Given the description of an element on the screen output the (x, y) to click on. 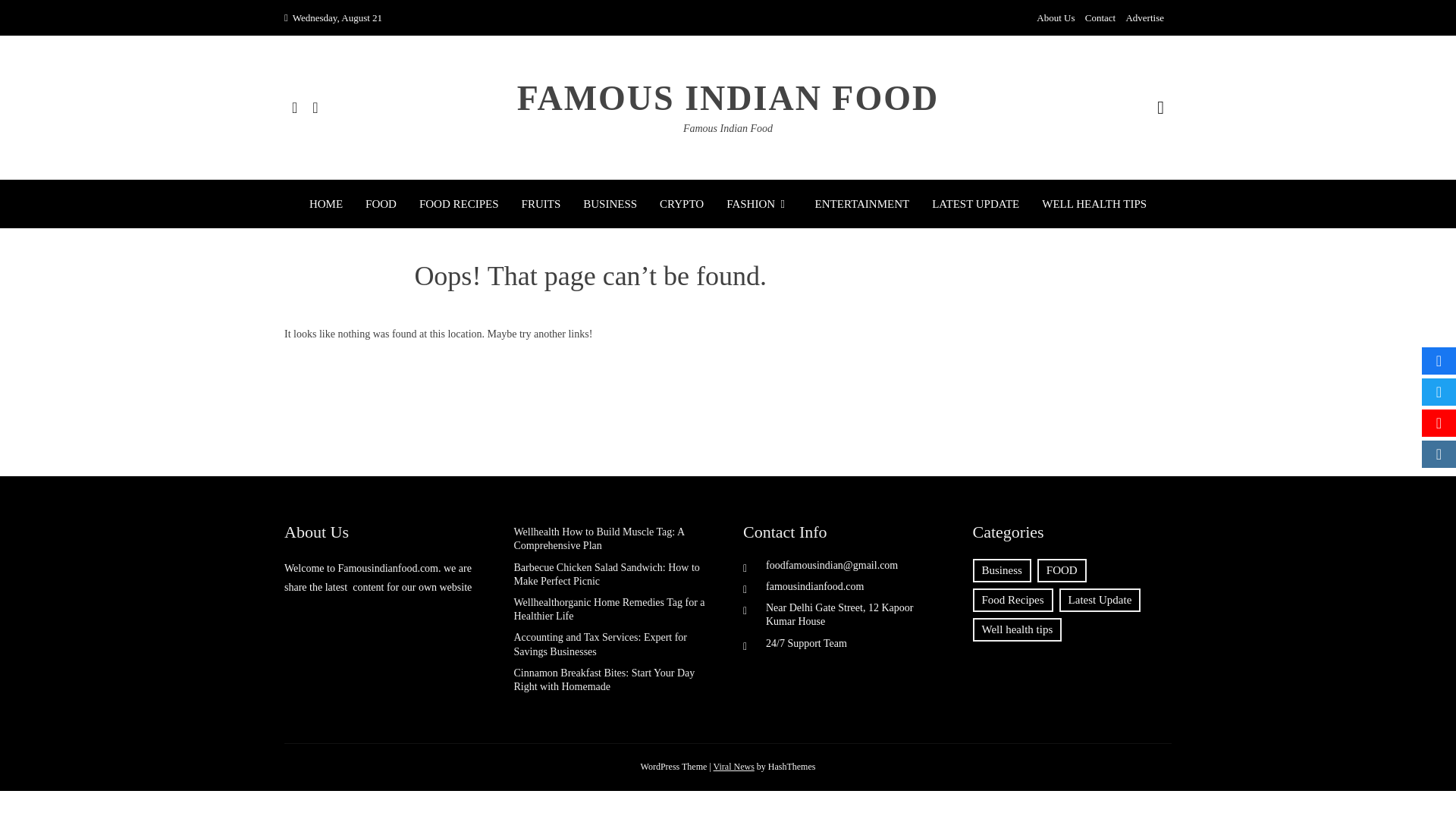
HOME (325, 203)
Business (1001, 570)
Barbecue Chicken Salad Sandwich: How to Make Perfect Picnic (606, 574)
FASHION (759, 203)
Viral News (733, 766)
Advertise (1144, 17)
Famous Indian Food (727, 128)
Cinnamon Breakfast Bites: Start Your Day Right with Homemade (604, 679)
Wellhealth How to Build Muscle Tag: A Comprehensive Plan (598, 538)
LATEST UPDATE (975, 203)
